Given the description of an element on the screen output the (x, y) to click on. 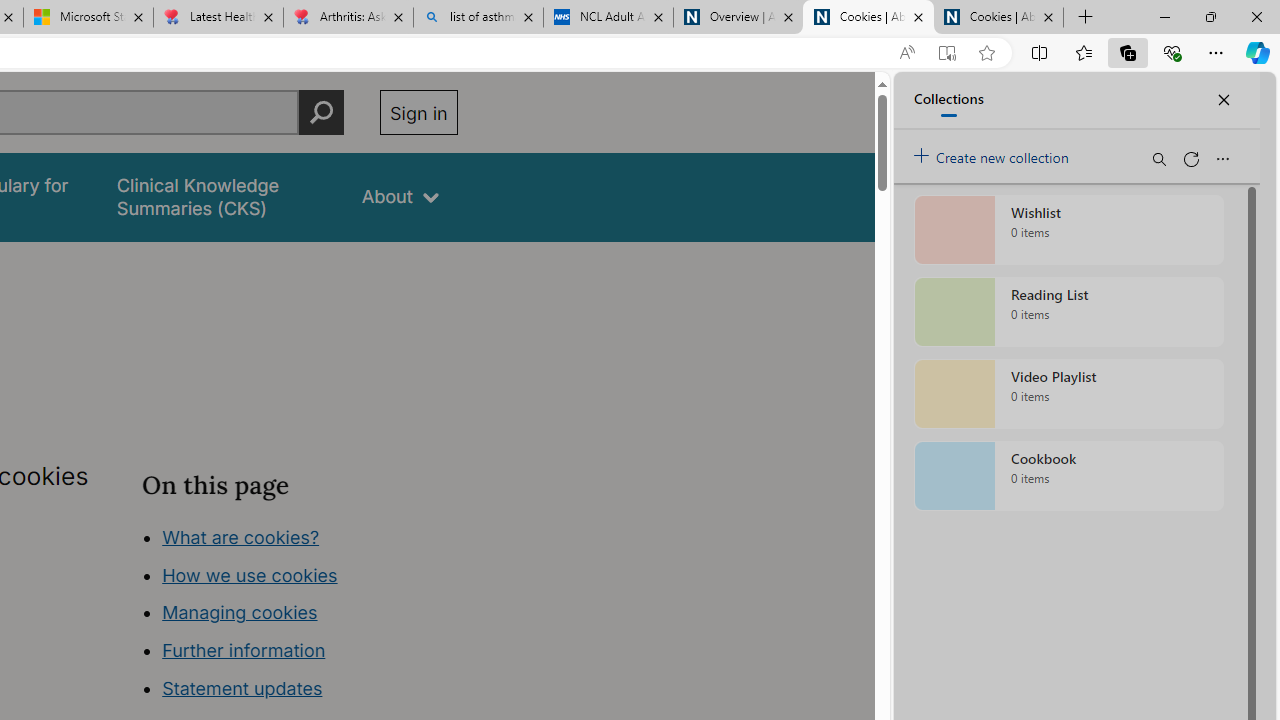
How we use cookies (249, 574)
Statement updates (242, 688)
Further information (244, 650)
What are cookies? (241, 536)
Class: in-page-nav__list (299, 615)
